Given the description of an element on the screen output the (x, y) to click on. 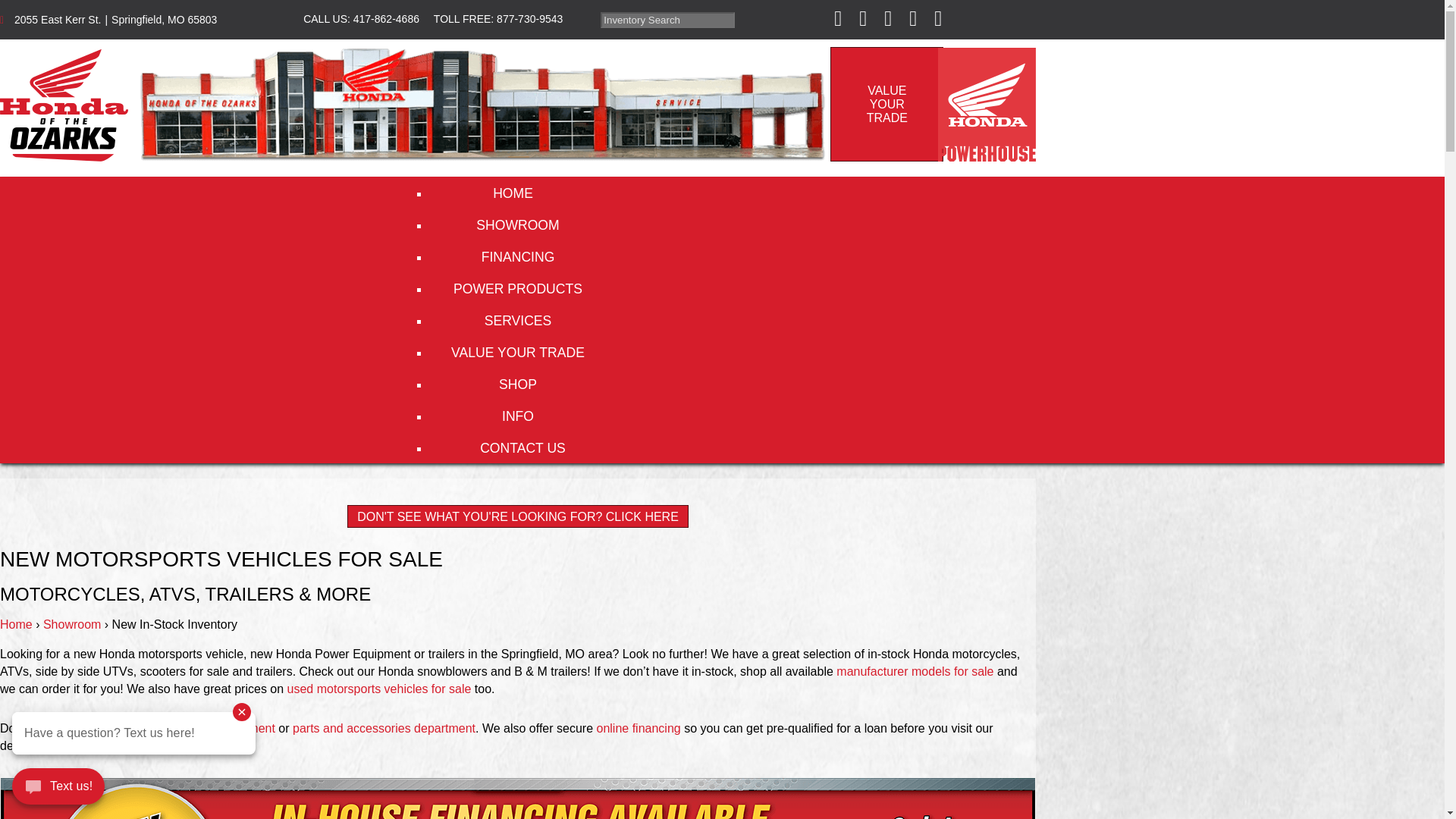
SHOP (517, 383)
Text us! (58, 789)
VALUE YOUR TRADE (517, 351)
SERVICES (517, 319)
SHOWROOM (517, 224)
POWER PRODUCTS (517, 287)
HOME (886, 103)
417-862-4686 (517, 192)
877-730-9543 (388, 19)
FINANCING (531, 19)
